Given the description of an element on the screen output the (x, y) to click on. 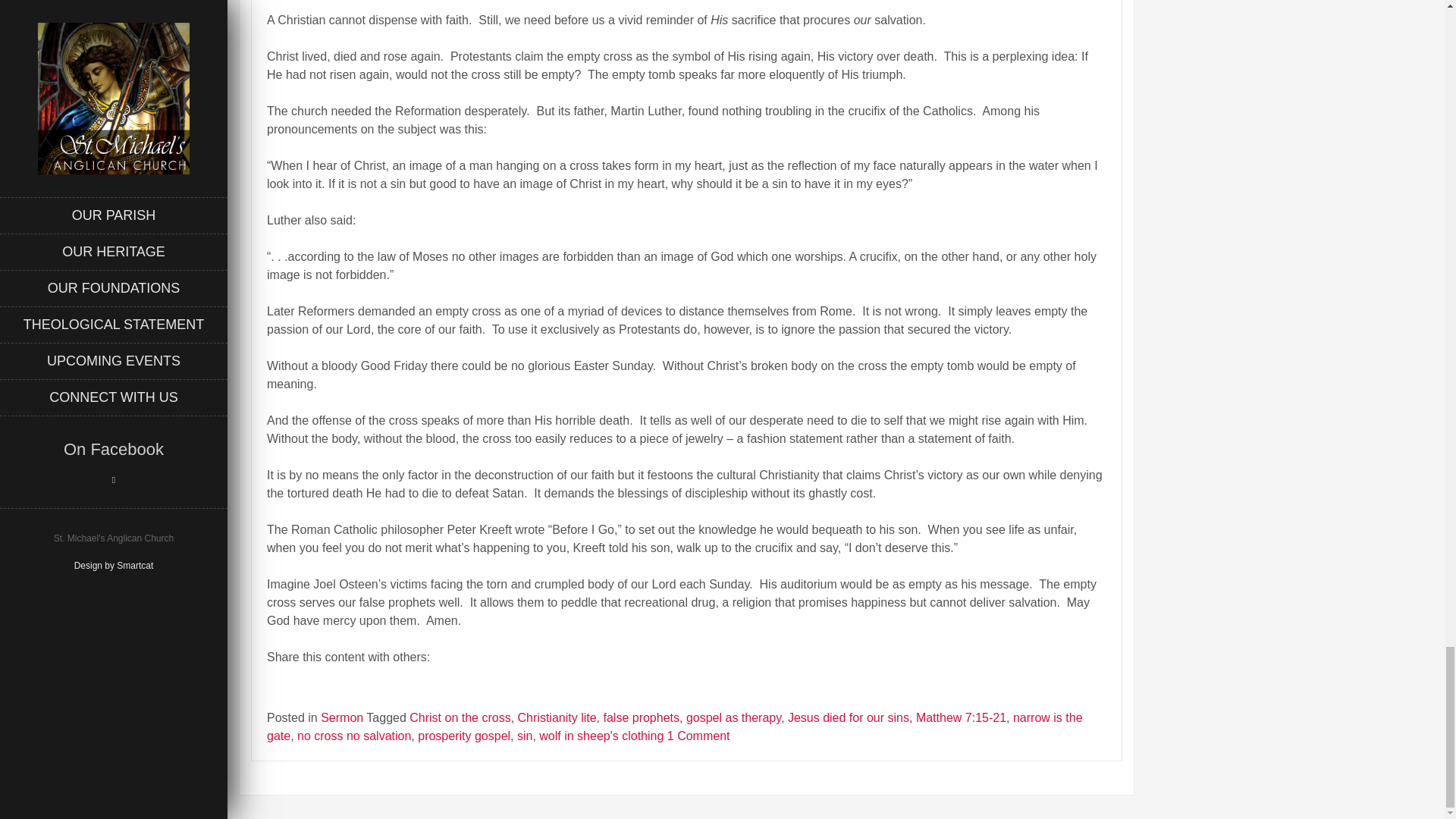
narrow is the gate (674, 726)
Jesus died for our sins (847, 717)
wolf in sheep's clothing (600, 735)
Sermon (341, 717)
1 Comment (698, 735)
sin (524, 735)
gospel as therapy (732, 717)
prosperity gospel (464, 735)
false prophets (640, 717)
Matthew 7:15-21 (960, 717)
Christianity lite (557, 717)
no cross no salvation (353, 735)
Christ on the cross (460, 717)
